Given the description of an element on the screen output the (x, y) to click on. 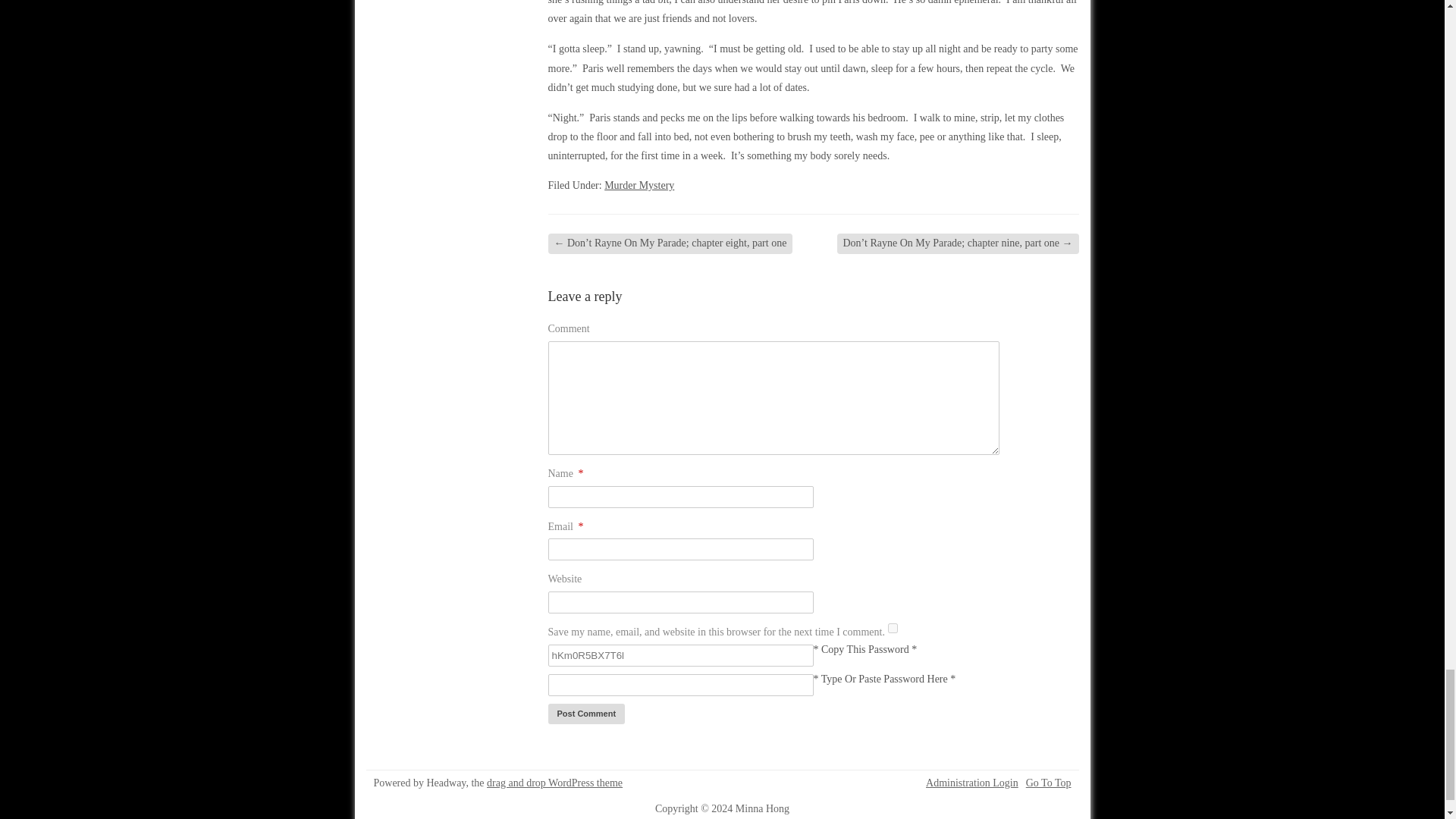
hKm0R5BX7T6l (679, 655)
Post Comment (585, 713)
Headway Premium WordPress Theme (554, 782)
yes (893, 628)
